Given the description of an element on the screen output the (x, y) to click on. 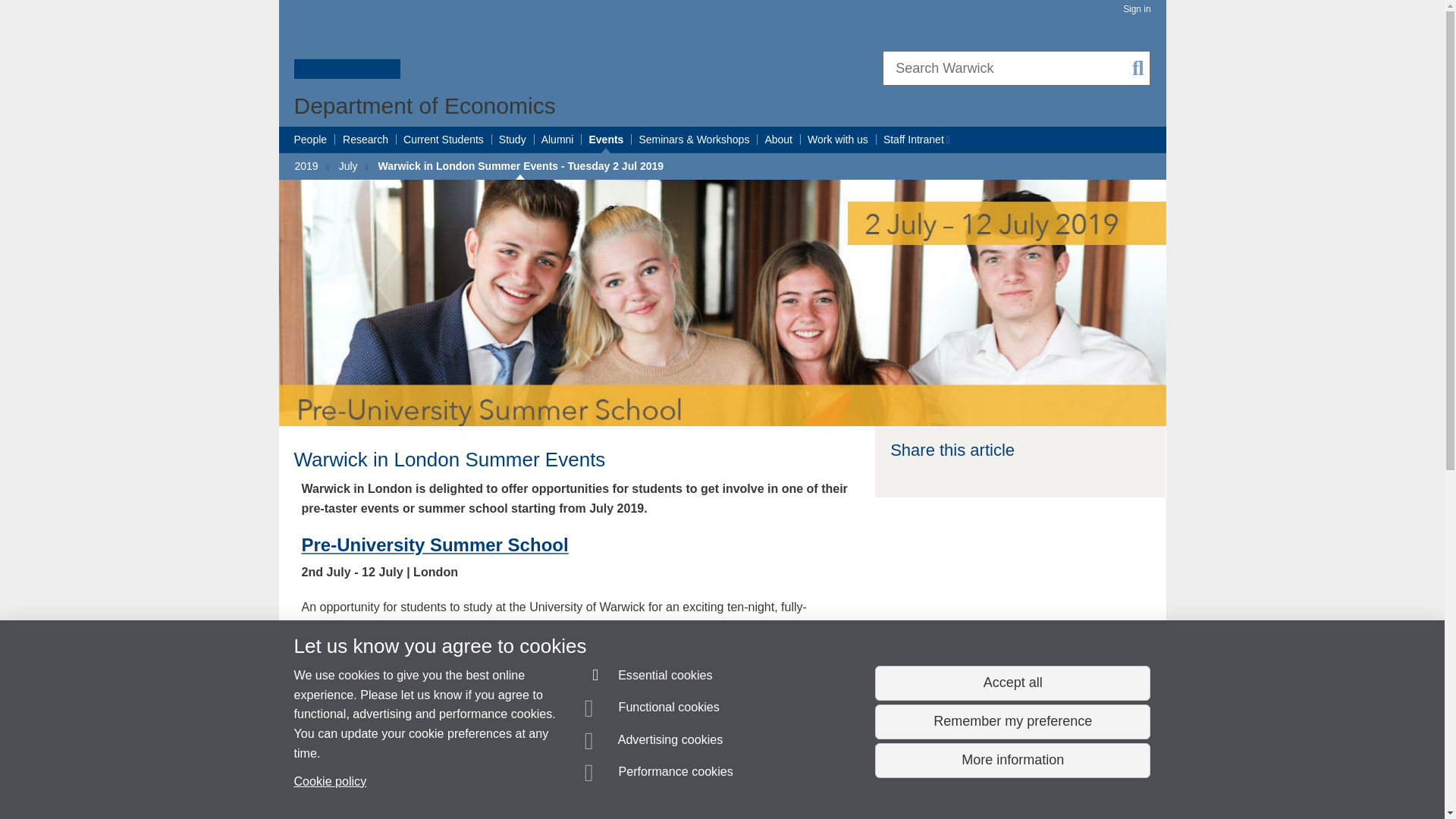
Essential cookies are always on (649, 677)
Sign in (1136, 9)
Accept all functional, advertising and performance cookies (1012, 683)
Research (365, 139)
Department of Economics (425, 105)
People (310, 139)
Events (605, 139)
Study (512, 139)
About (778, 139)
